Given the description of an element on the screen output the (x, y) to click on. 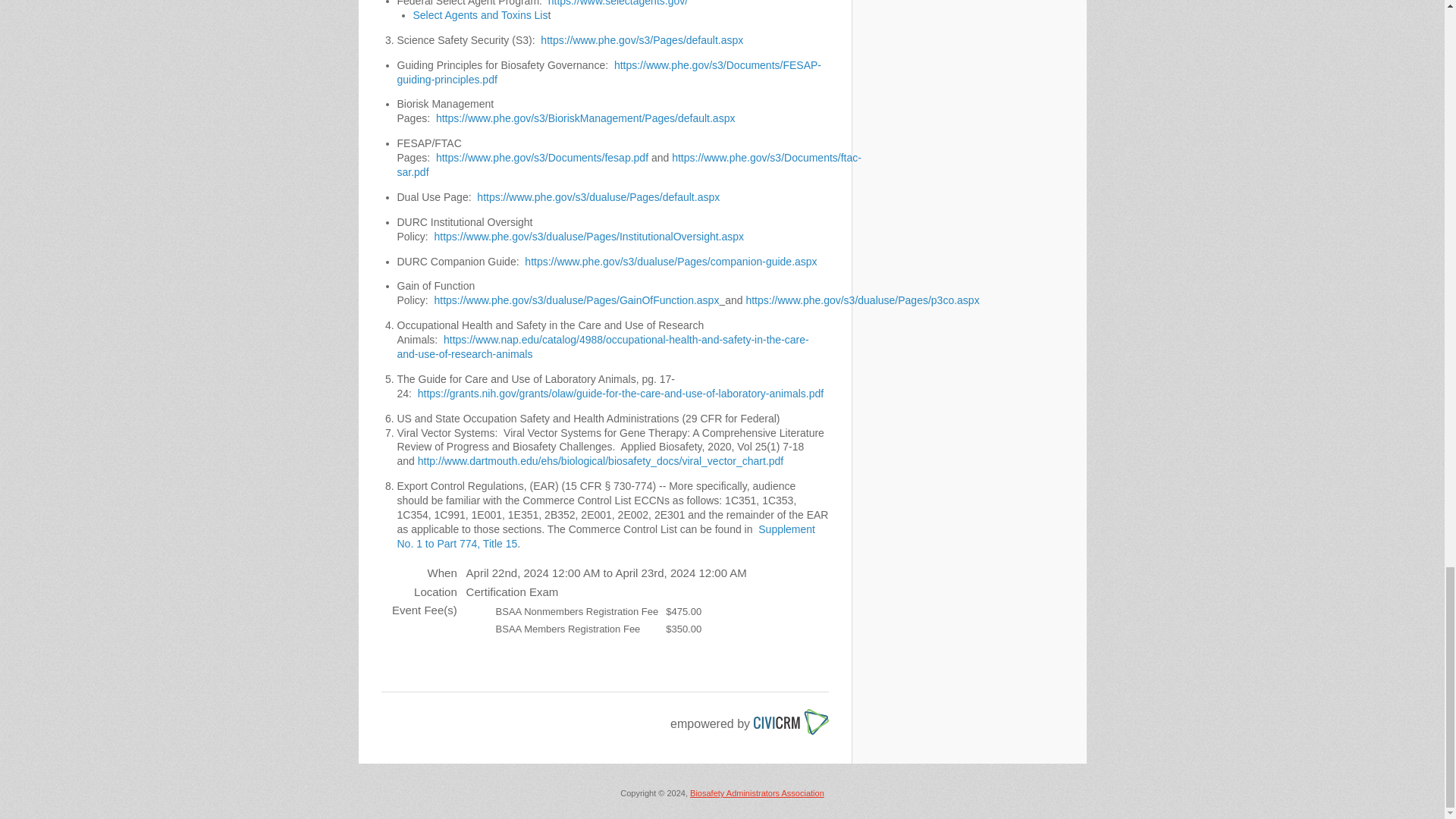
CiviCRM.org - Growing and Sustaining Relationships (791, 714)
Supplement No. 1 to Part 774, Title 15 (606, 536)
Select Agents and Toxins Lis (479, 15)
Biosafety Administrators Association (757, 792)
